Given the description of an element on the screen output the (x, y) to click on. 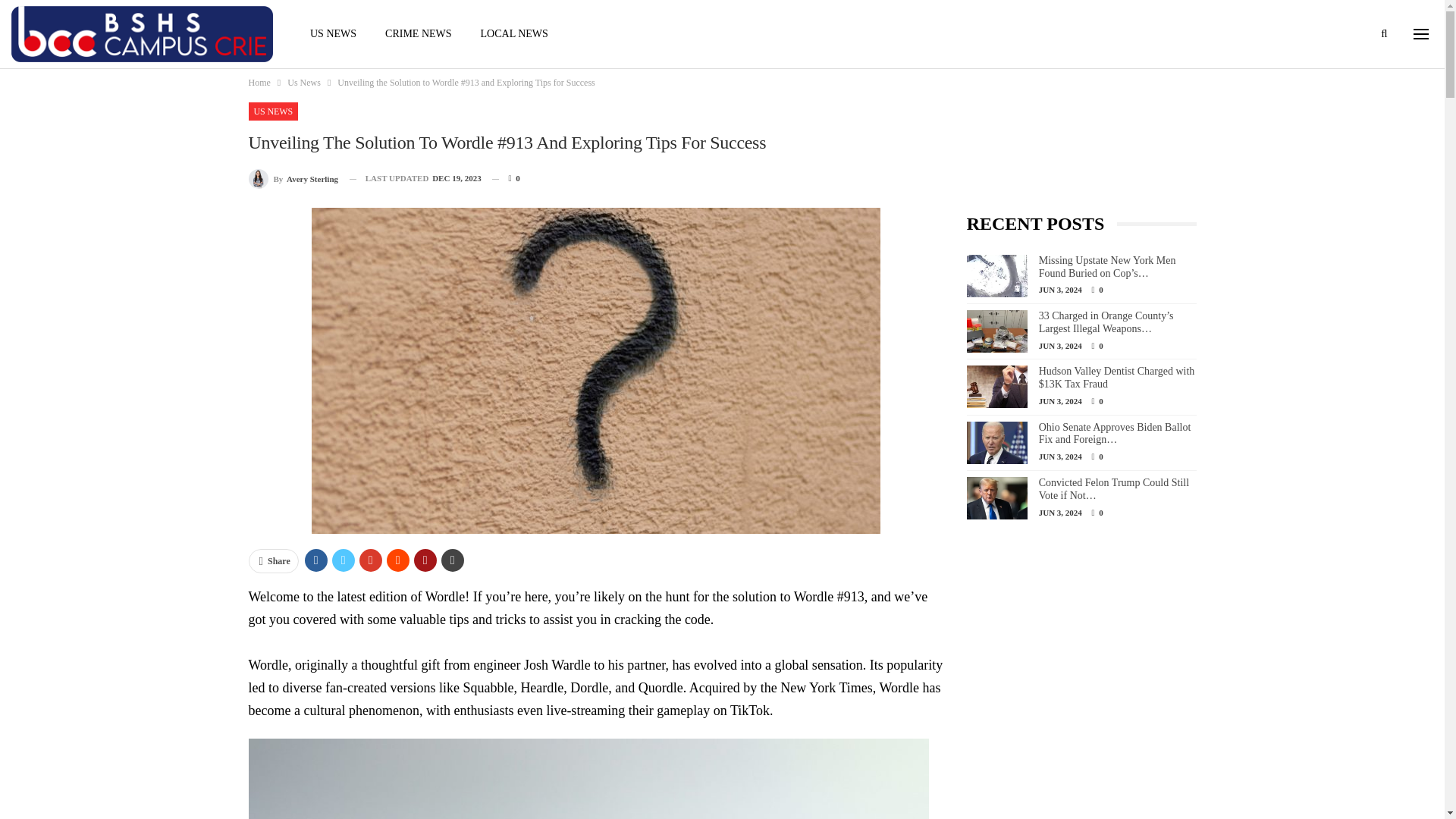
0 (505, 178)
CRIME NEWS (418, 33)
By Avery Sterling (293, 178)
US NEWS (333, 33)
LOCAL NEWS (513, 33)
US NEWS (273, 111)
Browse Author Articles (293, 178)
Us News (303, 82)
Home (259, 82)
